Given the description of an element on the screen output the (x, y) to click on. 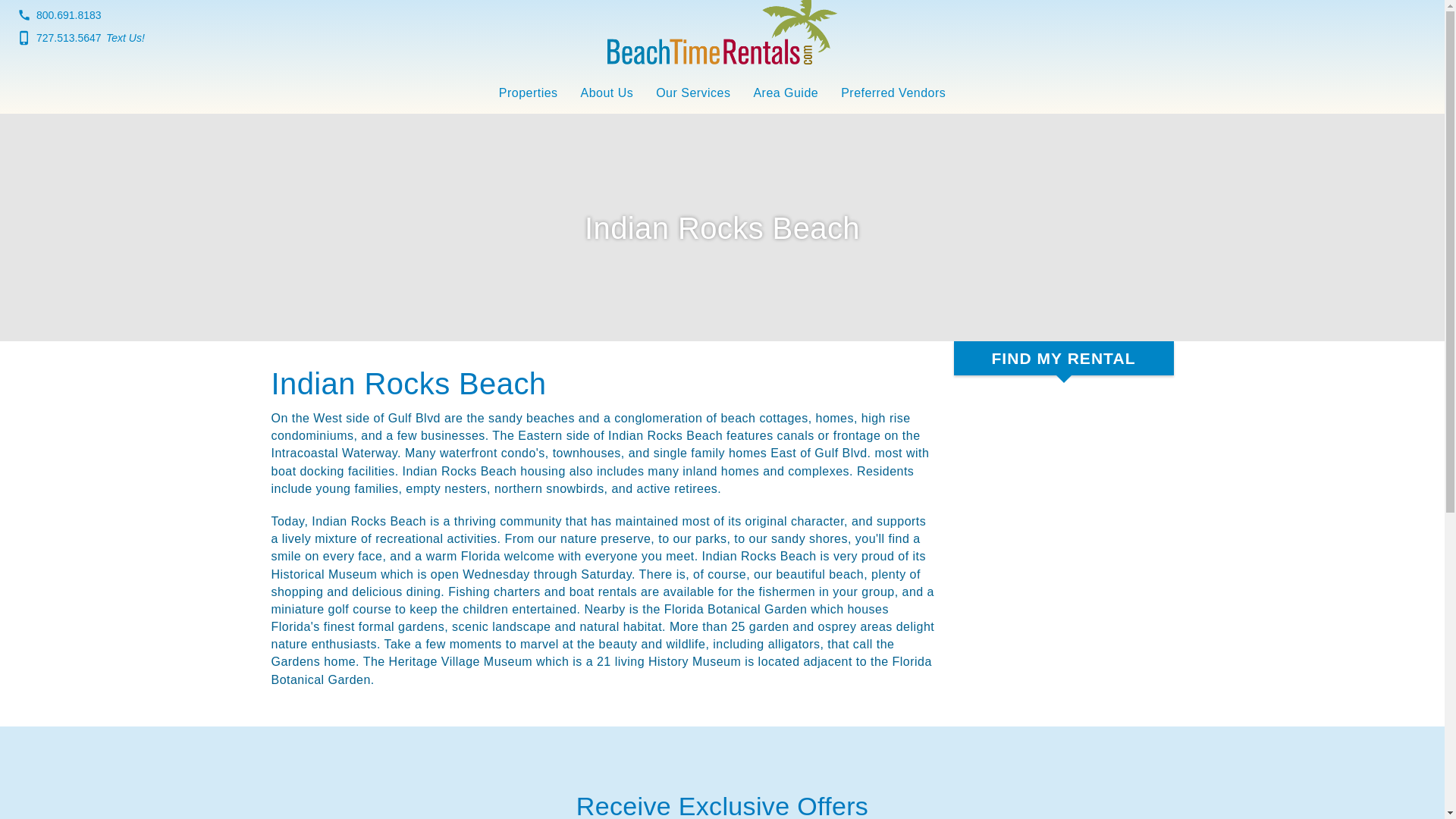
800.691.8183 (57, 14)
Home (722, 24)
Properties (528, 94)
727.513.5647 (57, 37)
